Given the description of an element on the screen output the (x, y) to click on. 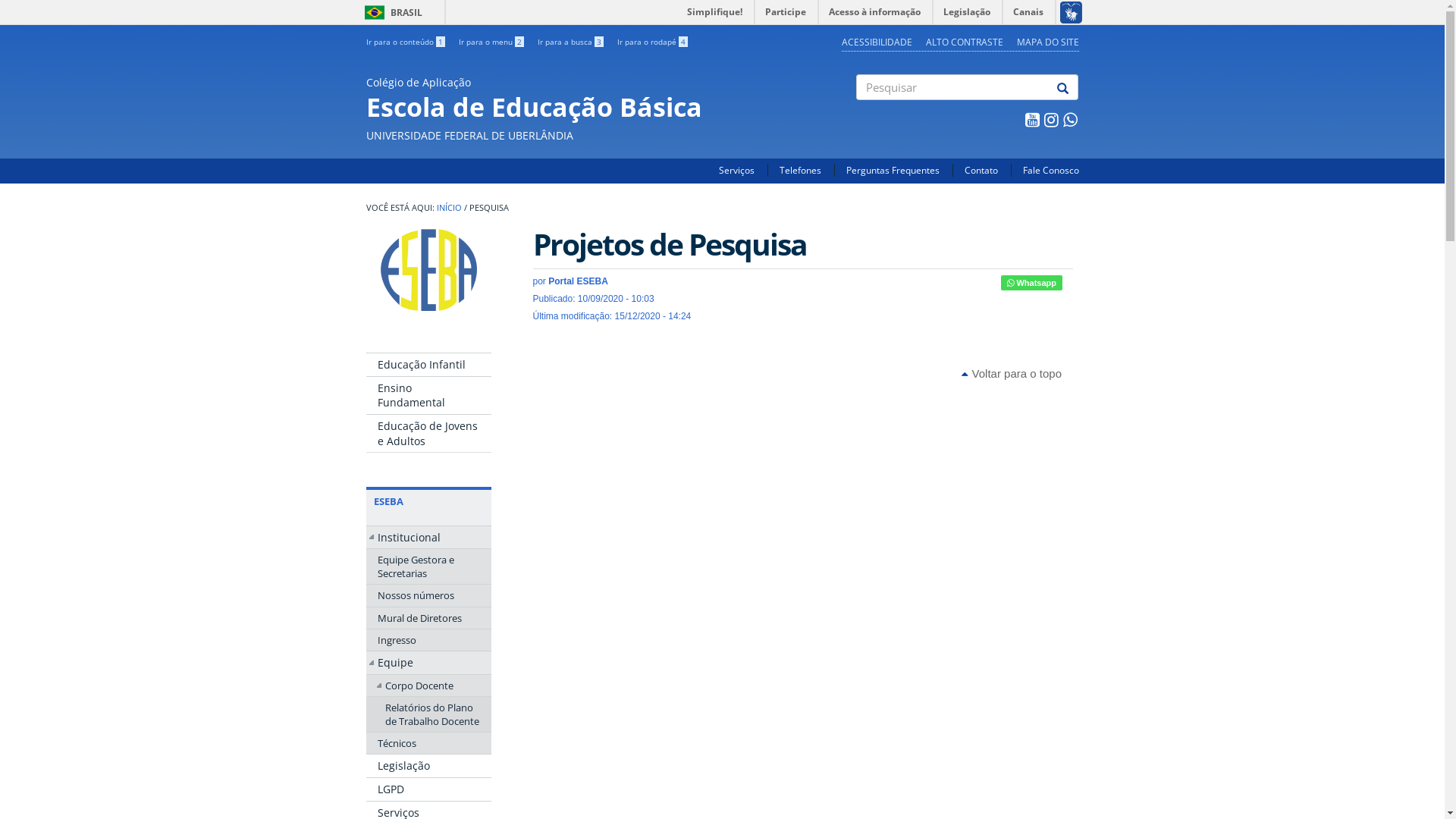
Equipe Gestora e Secretarias Element type: text (427, 566)
Ir para o menu 2 Element type: text (490, 41)
Ir para a busca 3 Element type: text (569, 41)
Ensino Fundamental Element type: text (427, 395)
Ingresso Element type: text (427, 639)
Perguntas Frequentes Element type: text (892, 169)
Whatsapp Element type: text (1031, 282)
Fale Conosco Element type: text (1050, 169)
Pesquisar Element type: text (856, 112)
Voltar para o topo Element type: text (1011, 373)
ACESSIBILIDADE Element type: text (876, 41)
LGPD Element type: text (427, 789)
Equipe Element type: text (427, 662)
Contato Element type: text (980, 169)
Institucional Element type: text (427, 537)
ALTO CONTRASTE Element type: text (963, 41)
Telefones Element type: text (800, 169)
MAPA DO SITE Element type: text (1047, 41)
Corpo Docente Element type: text (427, 685)
Google Plus One Element type: text (1069, 282)
Mural de Diretores Element type: text (427, 617)
Compartilhe no Facebook Element type: text (983, 282)
Tweet Widget Element type: text (993, 282)
BRASIL Element type: text (373, 12)
